Given the description of an element on the screen output the (x, y) to click on. 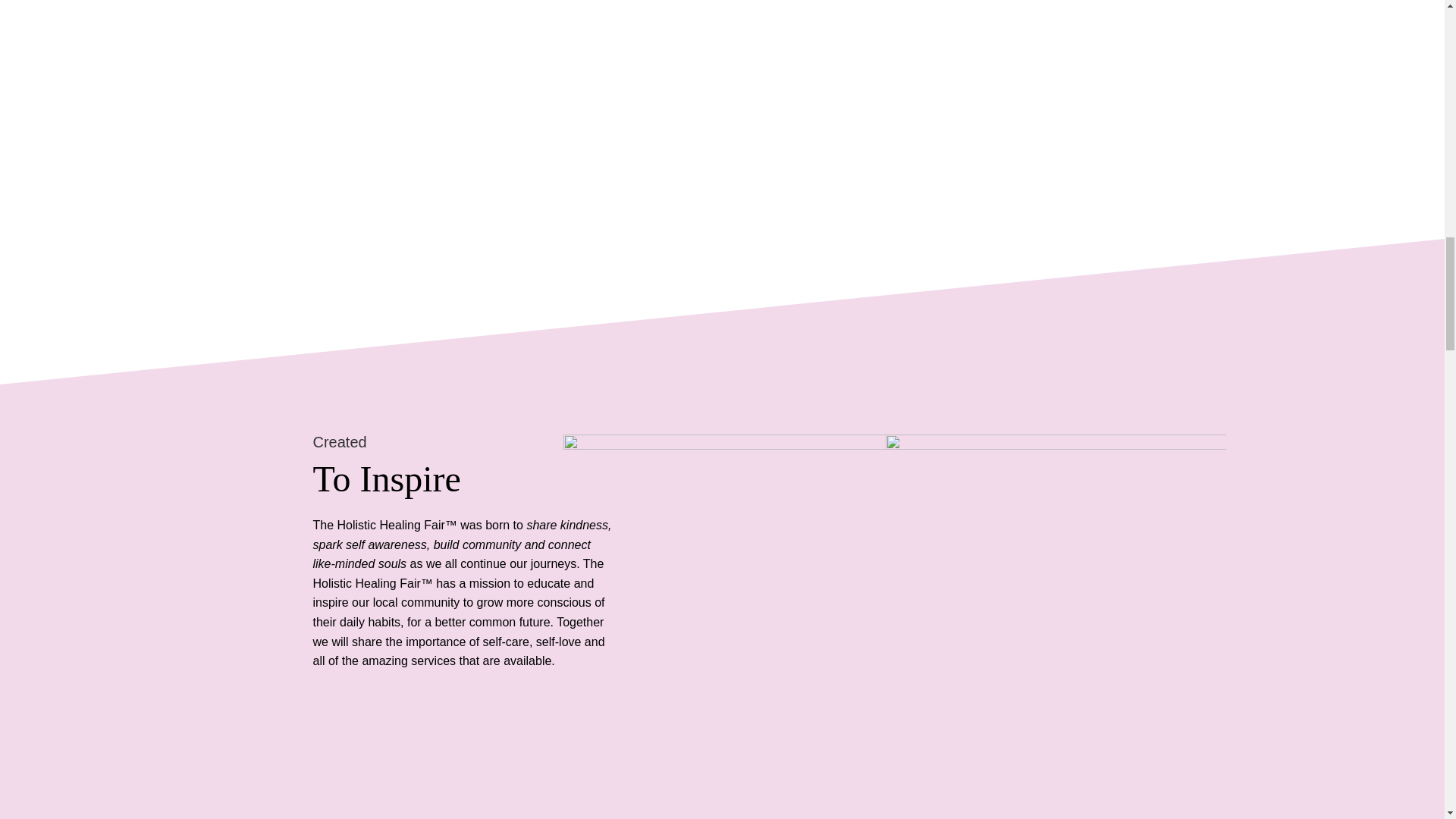
estate-planning-20 (895, 604)
estate-planning-75 (1055, 604)
estate-planning-74 (733, 604)
